Given the description of an element on the screen output the (x, y) to click on. 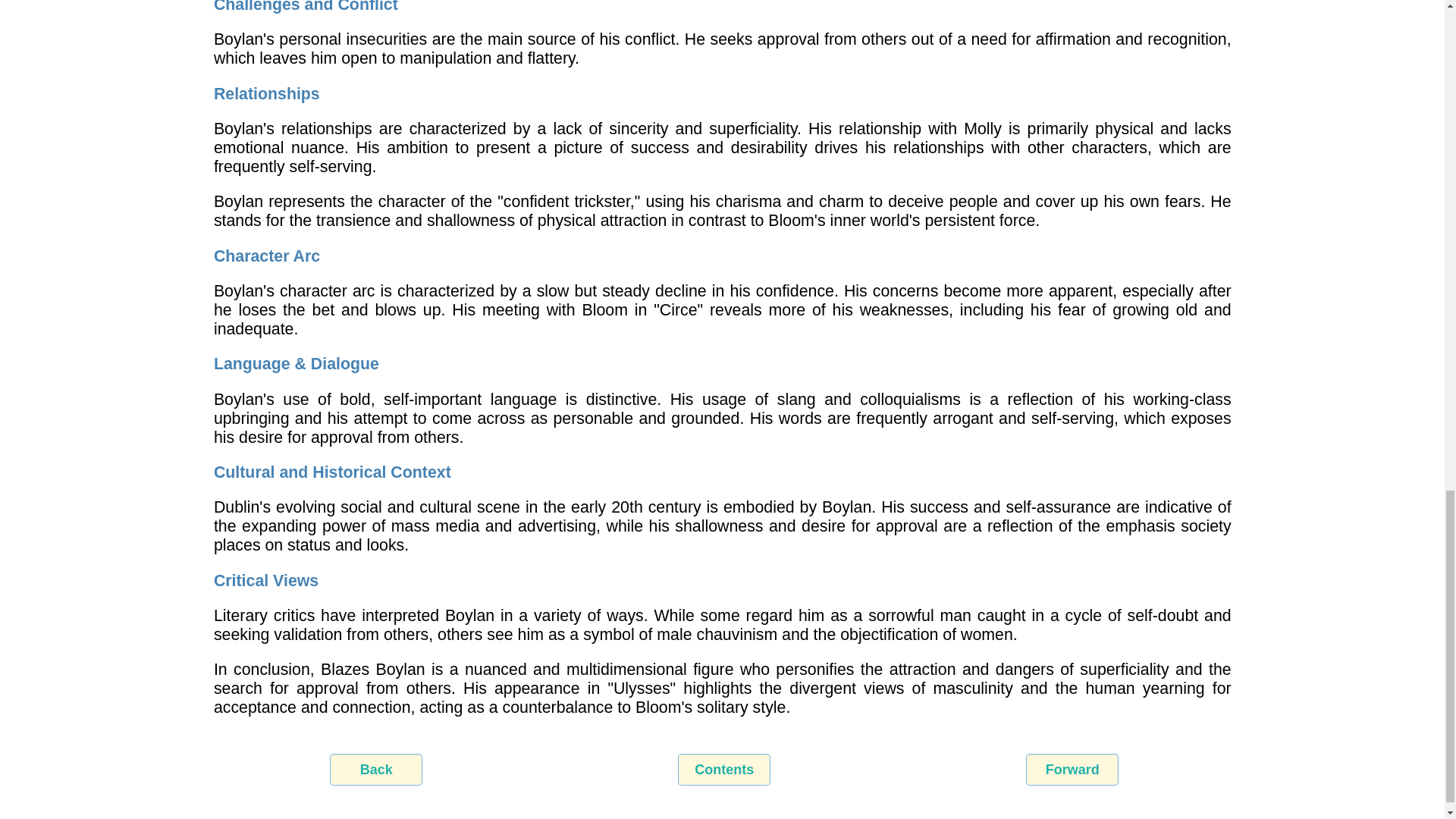
Contents (724, 769)
Forward (1072, 769)
Back (376, 769)
